Given the description of an element on the screen output the (x, y) to click on. 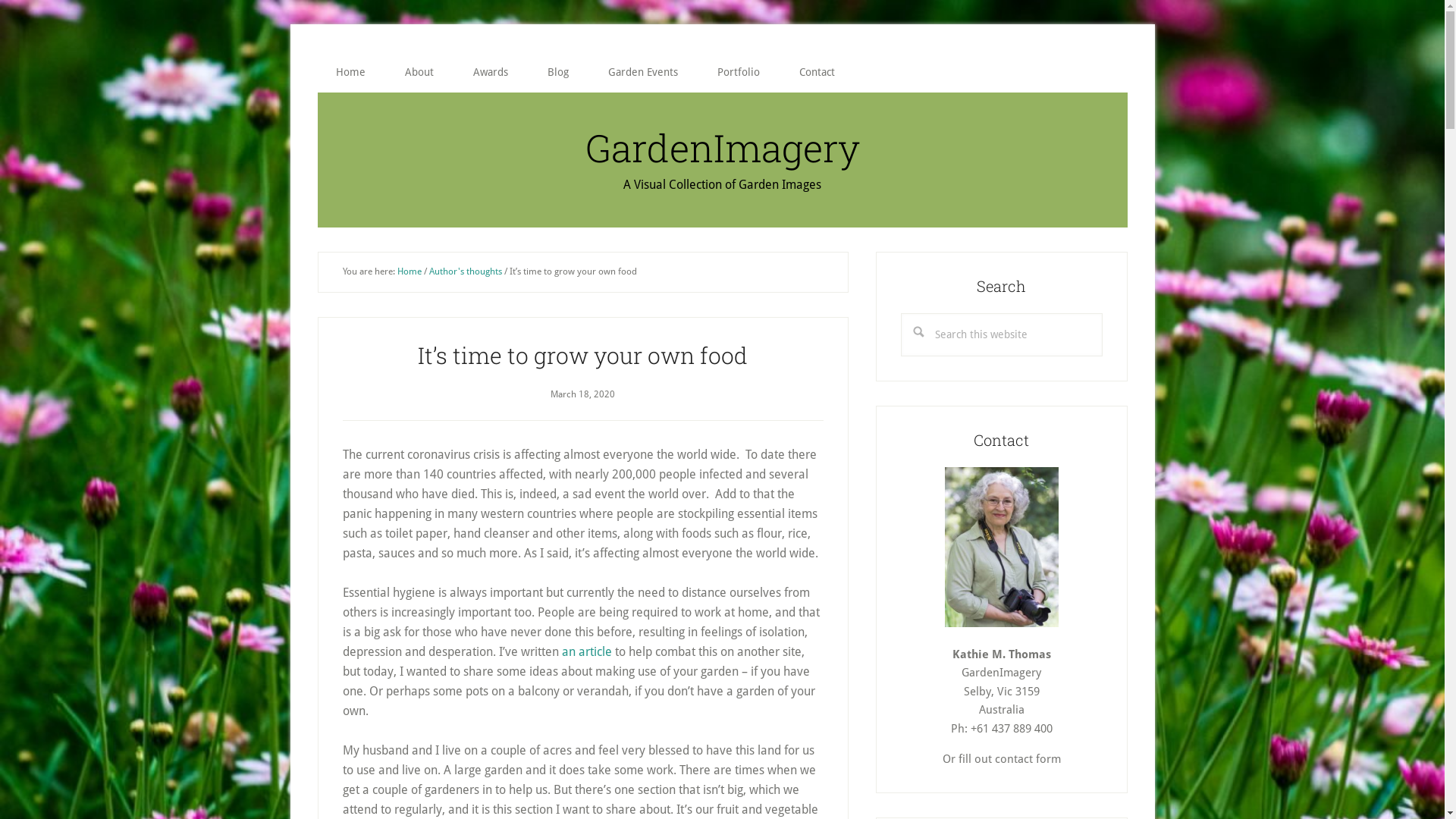
Skip to main content Element type: text (0, 0)
Home Element type: text (349, 71)
Search Element type: text (1102, 312)
Blog Element type: text (557, 71)
Author's thoughts Element type: text (465, 271)
Awards Element type: text (490, 71)
an article Element type: text (586, 651)
Portfolio Element type: text (738, 71)
GardenImagery Element type: text (722, 147)
Home Element type: text (409, 271)
Contact Element type: text (817, 71)
About Element type: text (418, 71)
Garden Events Element type: text (642, 71)
